Given the description of an element on the screen output the (x, y) to click on. 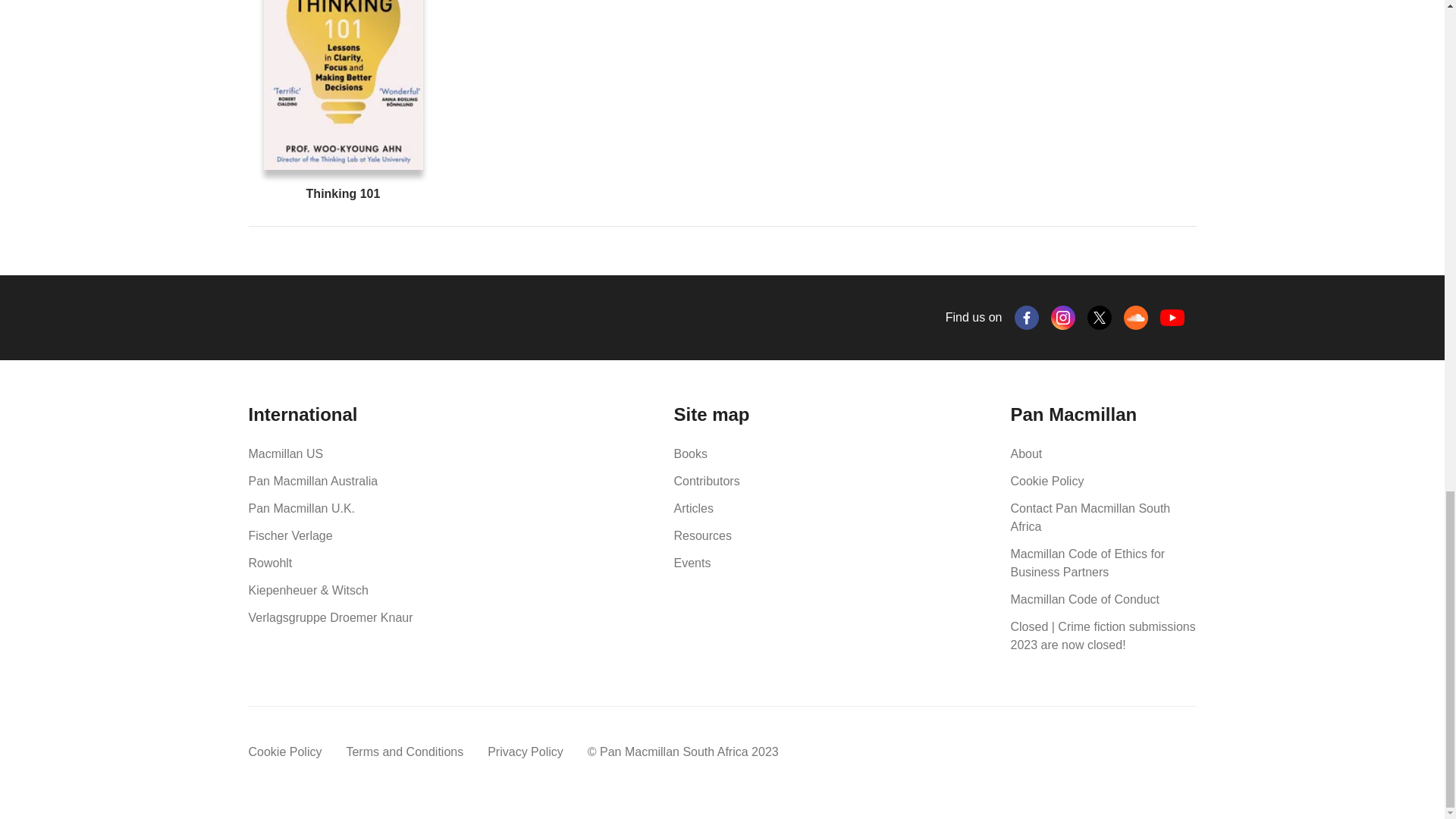
SoundCloud (1136, 317)
Instagram (1063, 317)
Facebook (1026, 317)
YouTube (1172, 317)
